Given the description of an element on the screen output the (x, y) to click on. 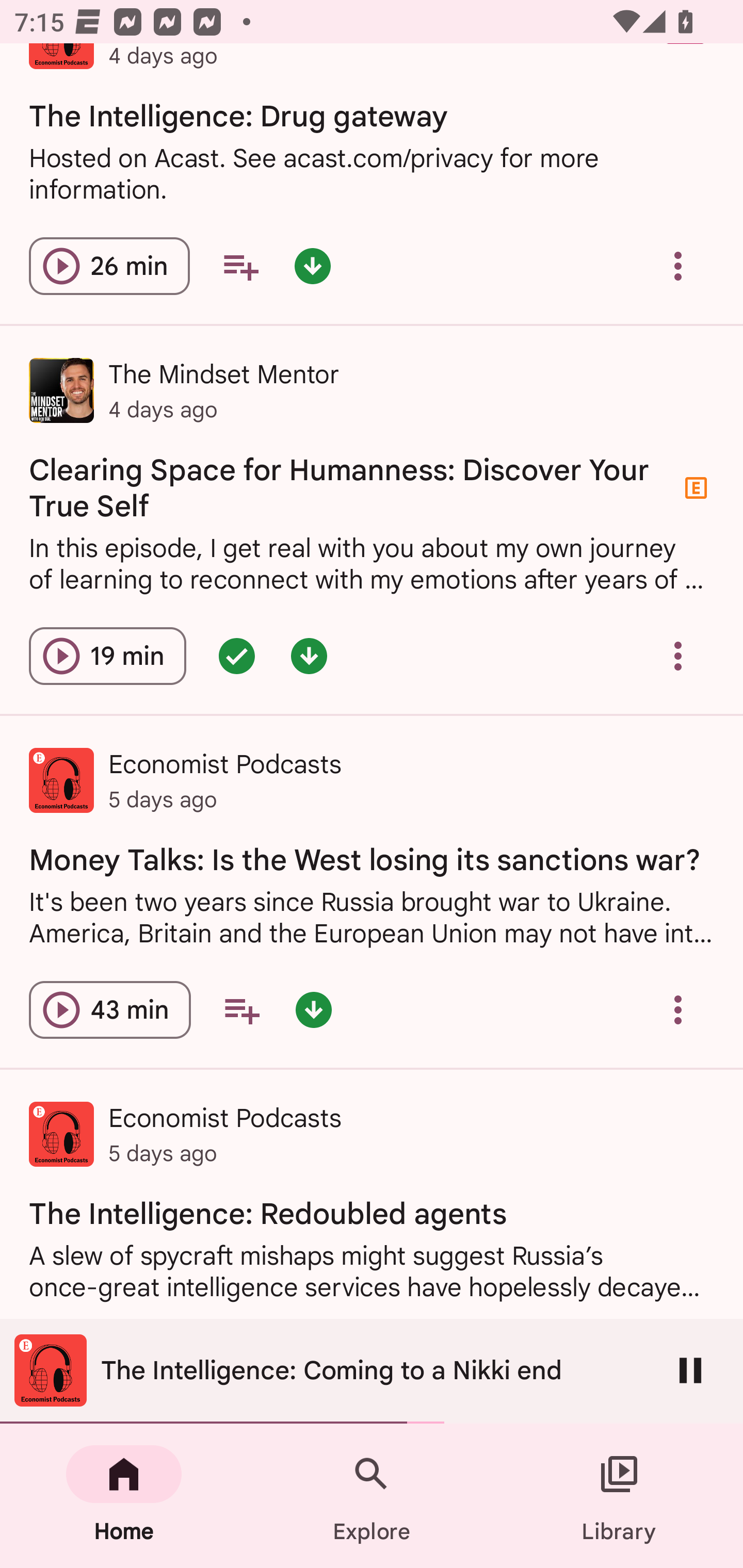
Play episode The Intelligence: Drug gateway 26 min (109, 265)
Add to your queue (240, 265)
Episode downloaded - double tap for options (312, 265)
Overflow menu (677, 265)
Episode queued - double tap for options (236, 656)
Episode downloaded - double tap for options (308, 656)
Overflow menu (677, 656)
Add to your queue (241, 1009)
Episode downloaded - double tap for options (313, 1009)
Overflow menu (677, 1009)
Pause (690, 1370)
Explore (371, 1495)
Library (619, 1495)
